Given the description of an element on the screen output the (x, y) to click on. 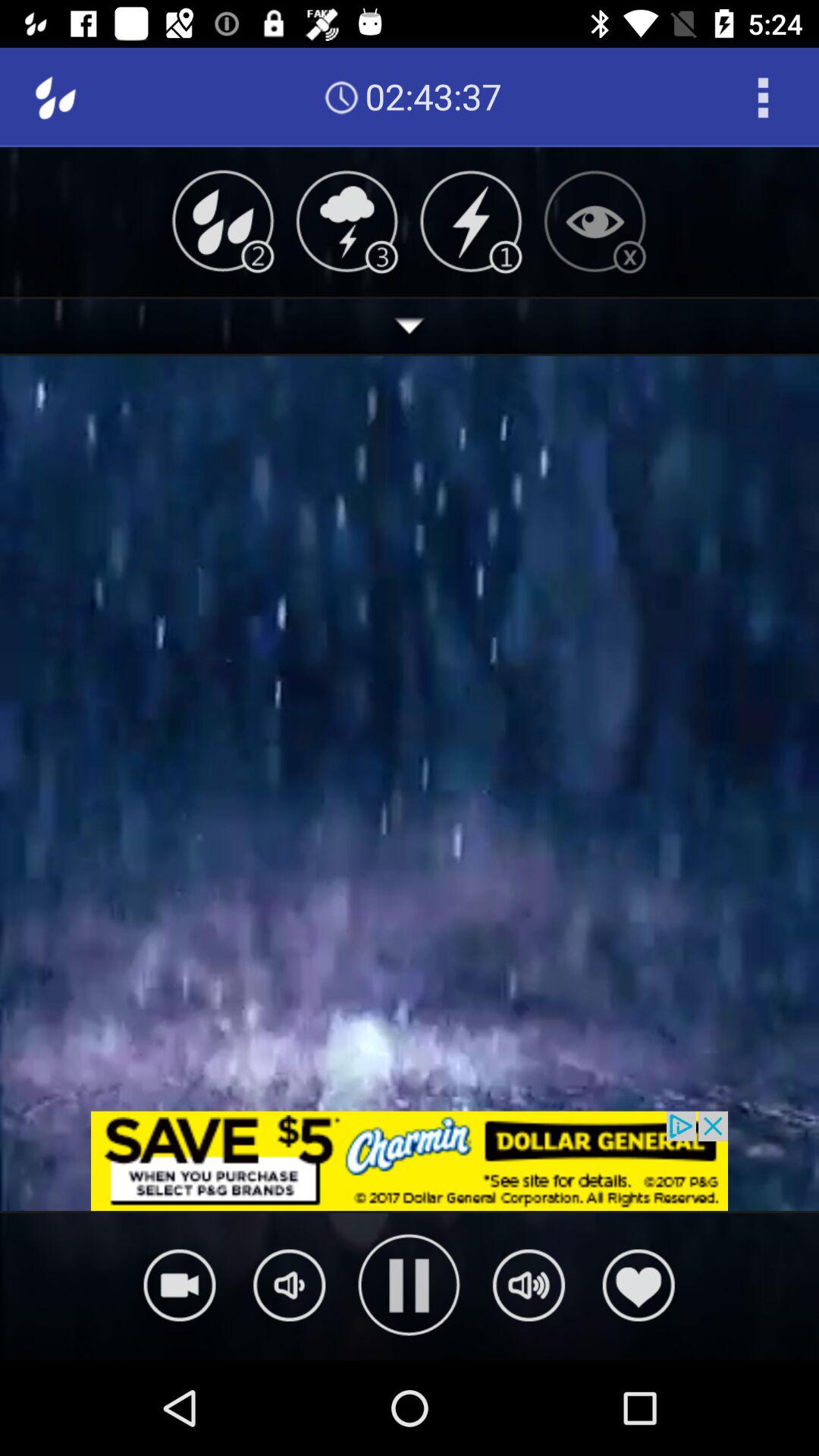
action overflow (763, 97)
